Given the description of an element on the screen output the (x, y) to click on. 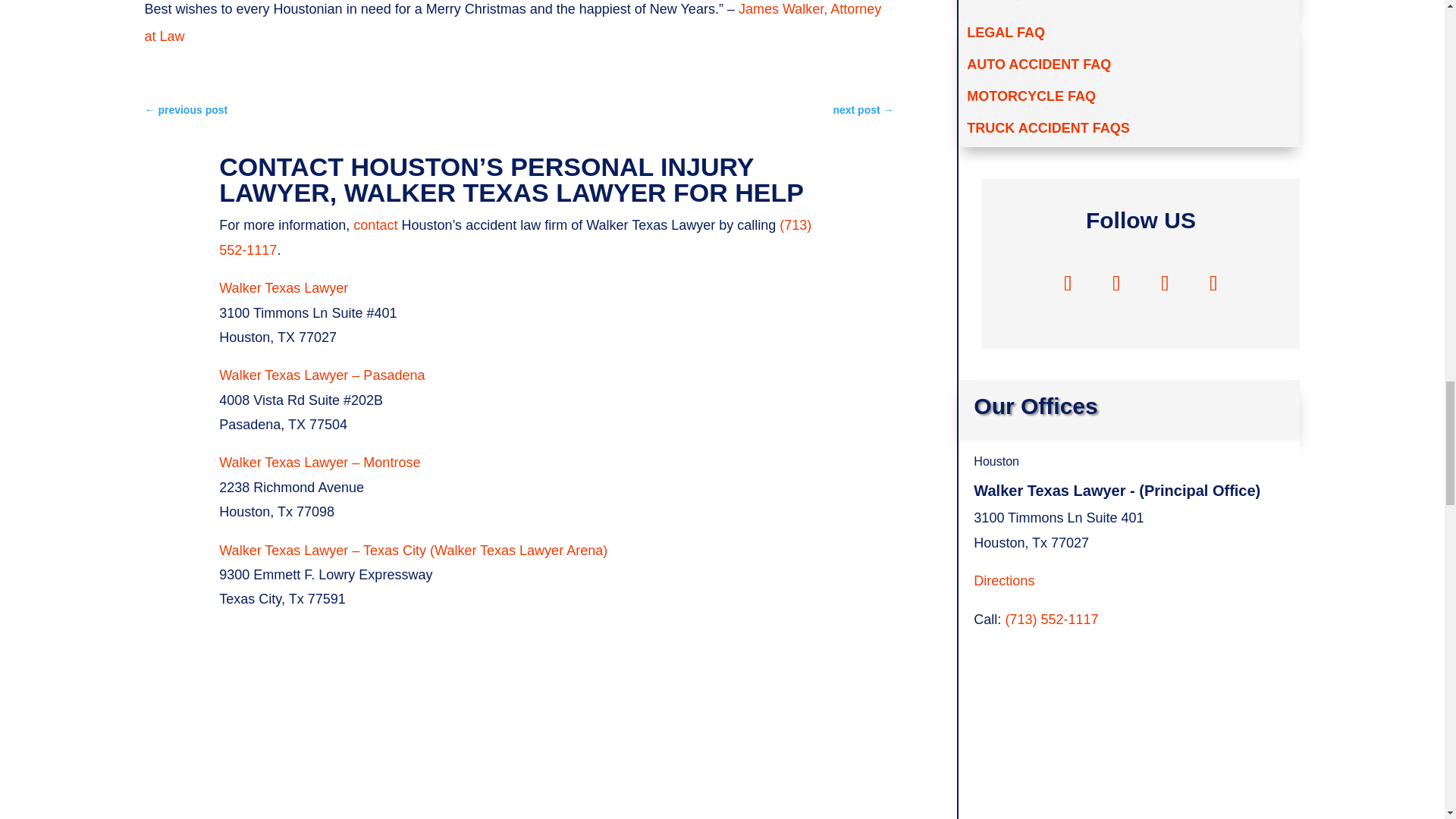
Follow on Instagram (1164, 283)
Follow on Youtube (1213, 283)
Follow on X (1115, 283)
Follow on Facebook (1067, 283)
